Given the description of an element on the screen output the (x, y) to click on. 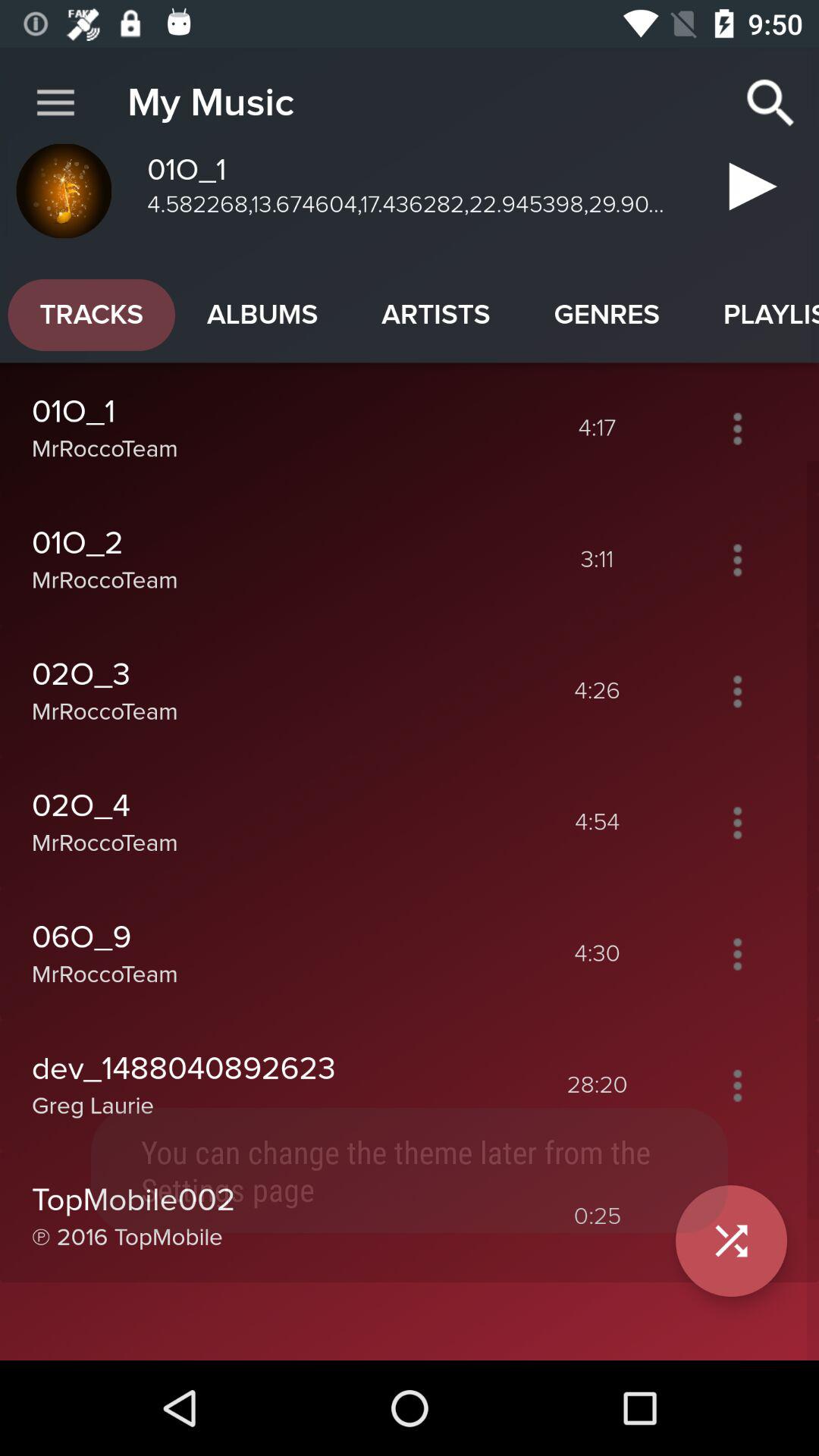
scroll until genres app (606, 314)
